Given the description of an element on the screen output the (x, y) to click on. 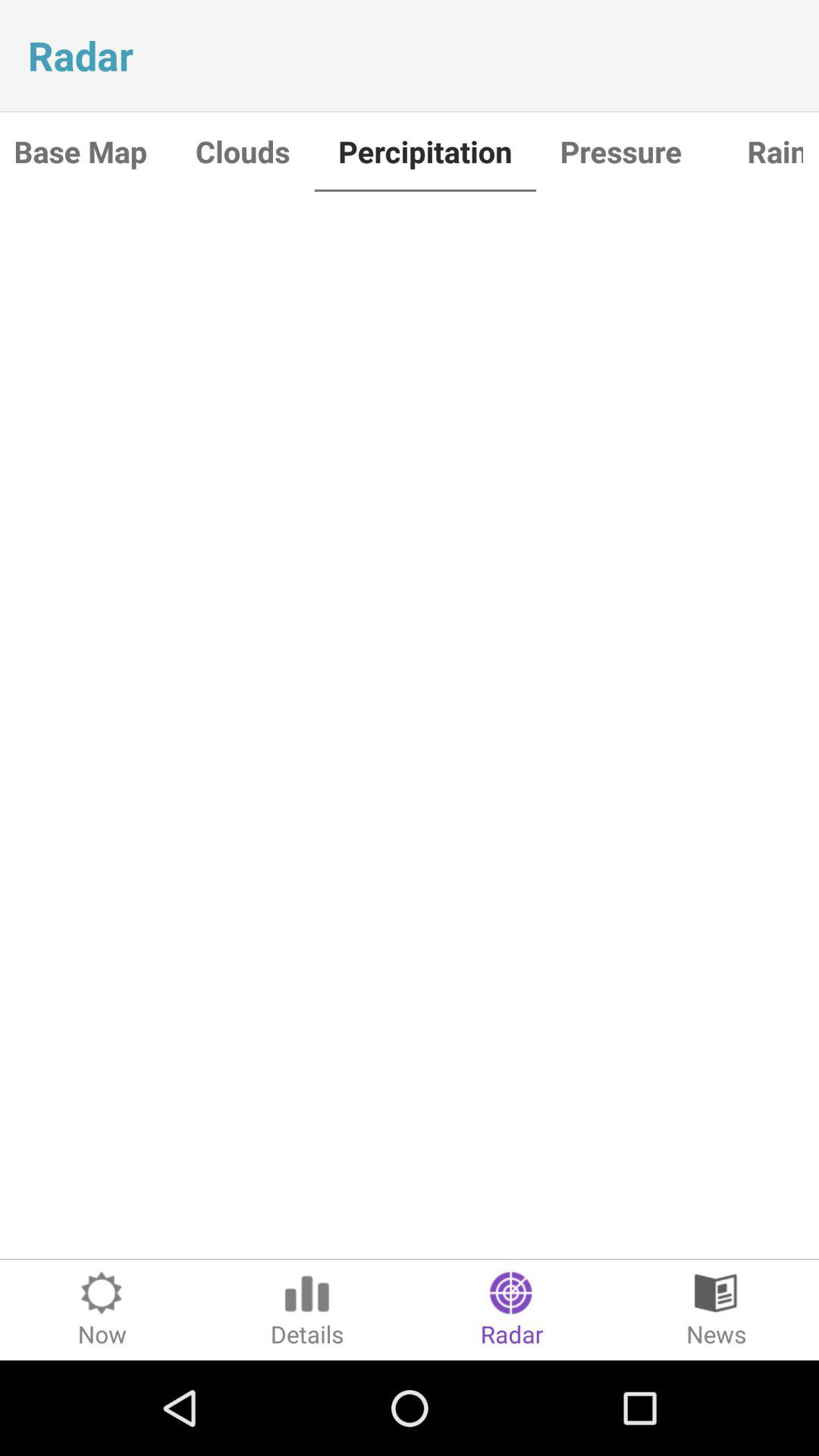
launch the icon next to radar icon (716, 1310)
